Given the description of an element on the screen output the (x, y) to click on. 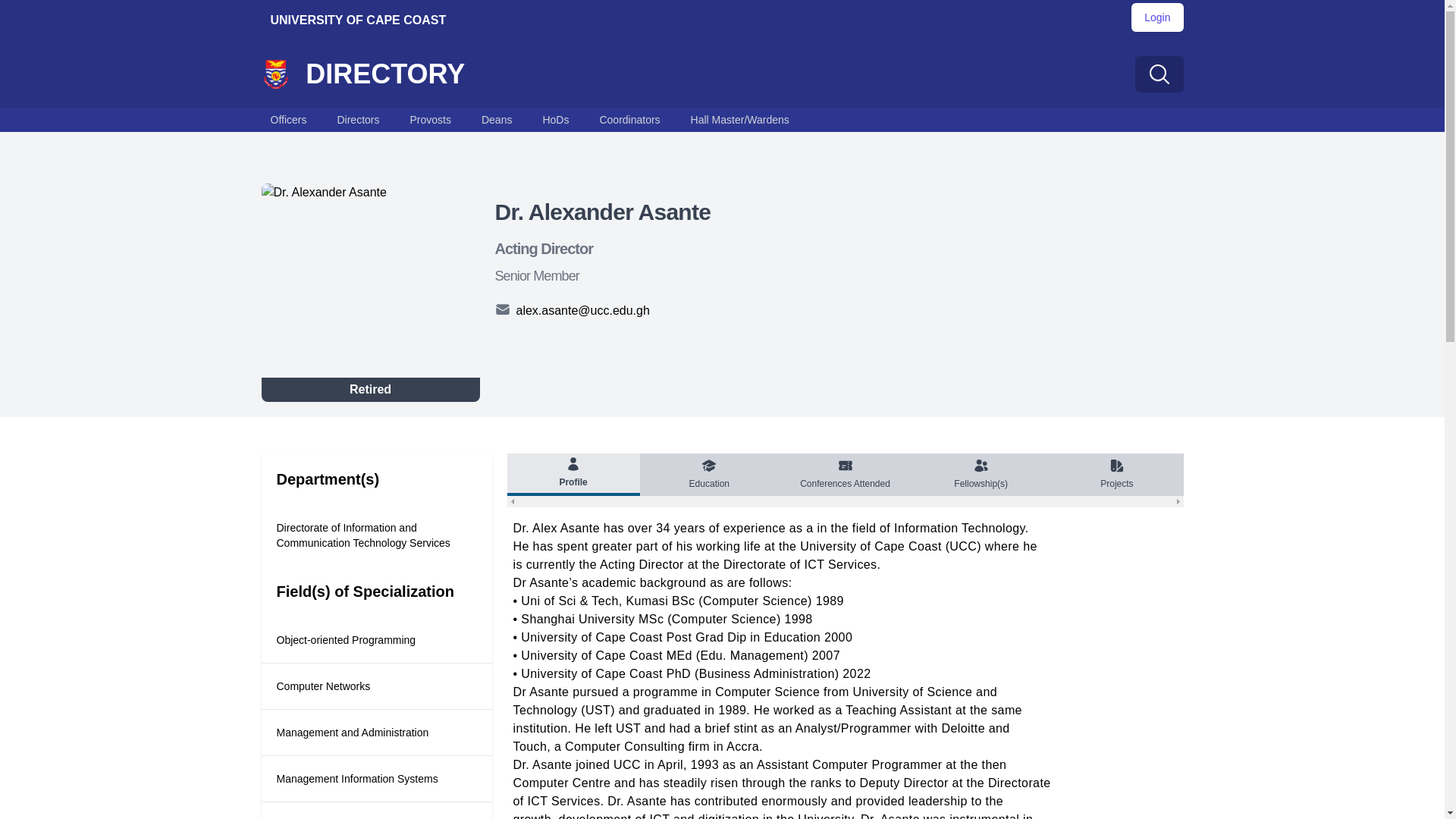
Login (1156, 17)
DIRECTORY (370, 73)
Conferences Attended (844, 474)
Deans (496, 119)
Officers (287, 119)
Senior Member (536, 275)
Directors (357, 119)
Education (709, 474)
Profile (572, 474)
HoDs (555, 119)
